Given the description of an element on the screen output the (x, y) to click on. 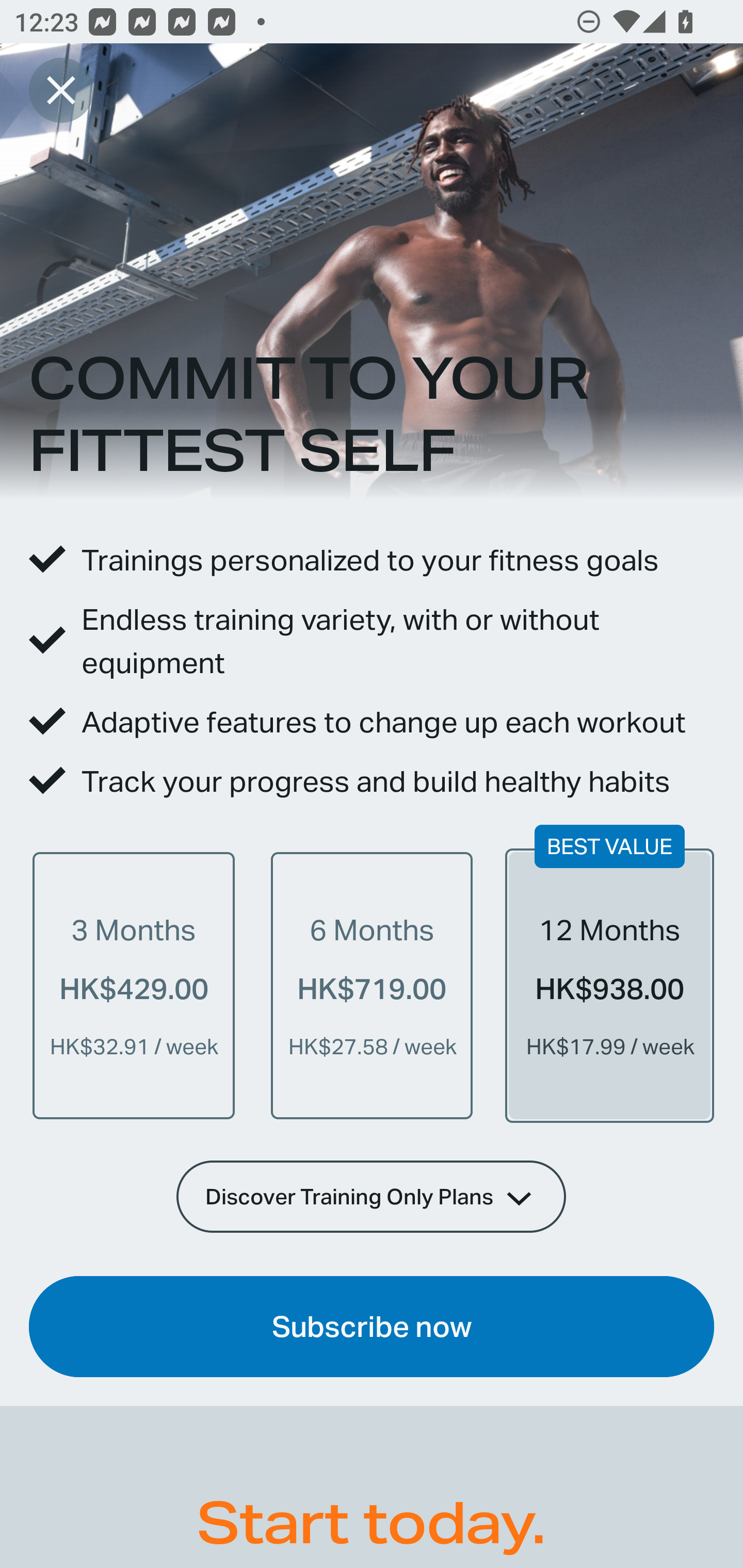
Close (60, 90)
3 Months HK$429.00 HK$32.91 / week (133, 985)
6 Months HK$719.00 HK$27.58 / week (371, 985)
12 Months HK$938.00 HK$17.99 / week (609, 985)
Discover Training Only Plans (371, 1196)
Subscribe now (371, 1326)
